Given the description of an element on the screen output the (x, y) to click on. 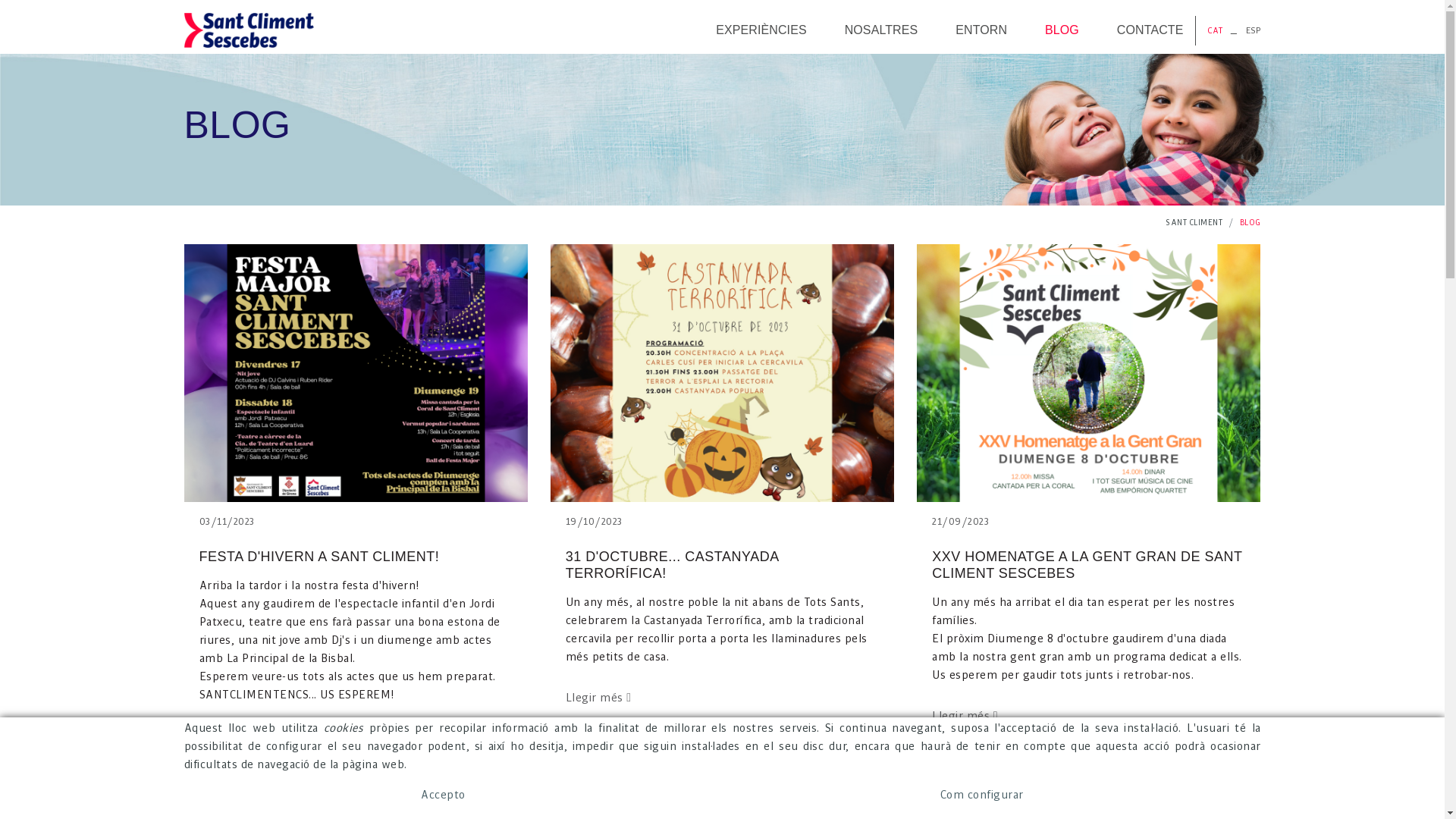
NOSALTRES Element type: text (881, 30)
BLOG Element type: text (1061, 30)
Empresa Element type: hover (248, 29)
SANT CLIMENT Element type: text (1194, 222)
ENTORN Element type: text (981, 30)
CONTACTE Element type: text (1150, 30)
ESP Element type: text (1253, 29)
Com configurar Element type: text (981, 795)
